Given the description of an element on the screen output the (x, y) to click on. 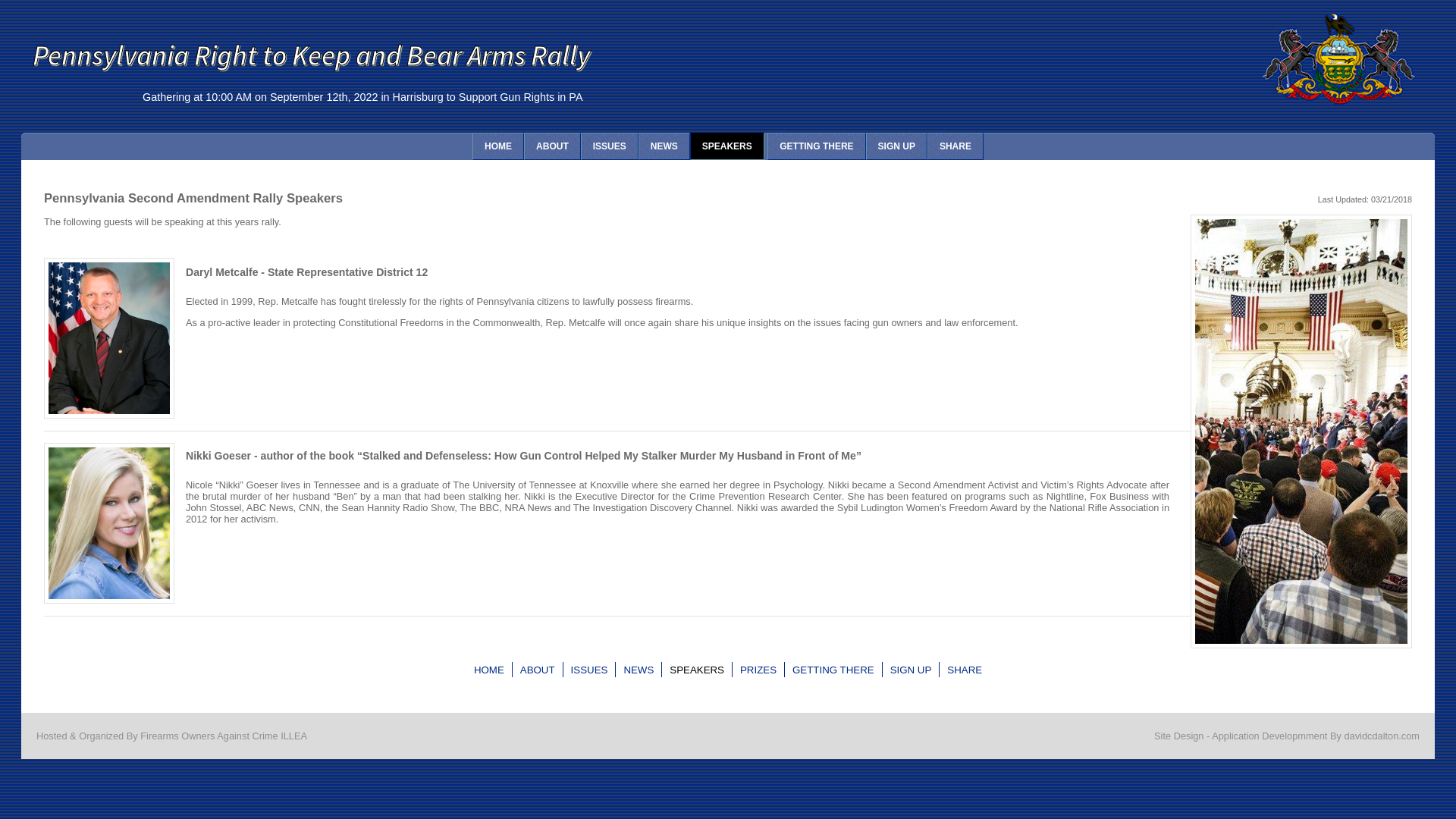
ISSUES Element type: text (609, 146)
Site Design - Application Developmment By davidcdalton.com Element type: text (1286, 735)
ABOUT Element type: text (537, 669)
NEWS Element type: text (638, 669)
HOME Element type: text (488, 669)
GETTING THERE Element type: text (816, 146)
ABOUT Element type: text (552, 146)
SHARE Element type: text (964, 669)
HOME Element type: text (498, 146)
SHARE Element type: text (955, 146)
NEWS Element type: text (664, 146)
PRIZES Element type: text (758, 669)
SIGN UP Element type: text (896, 146)
GETTING THERE Element type: text (832, 669)
SIGN UP Element type: text (910, 669)
Hosted & Organized By Firearms Owners Against Crime ILLEA Element type: text (171, 735)
SPEAKERS Element type: text (727, 146)
SPEAKERS Element type: text (696, 669)
ISSUES Element type: text (589, 669)
